Given the description of an element on the screen output the (x, y) to click on. 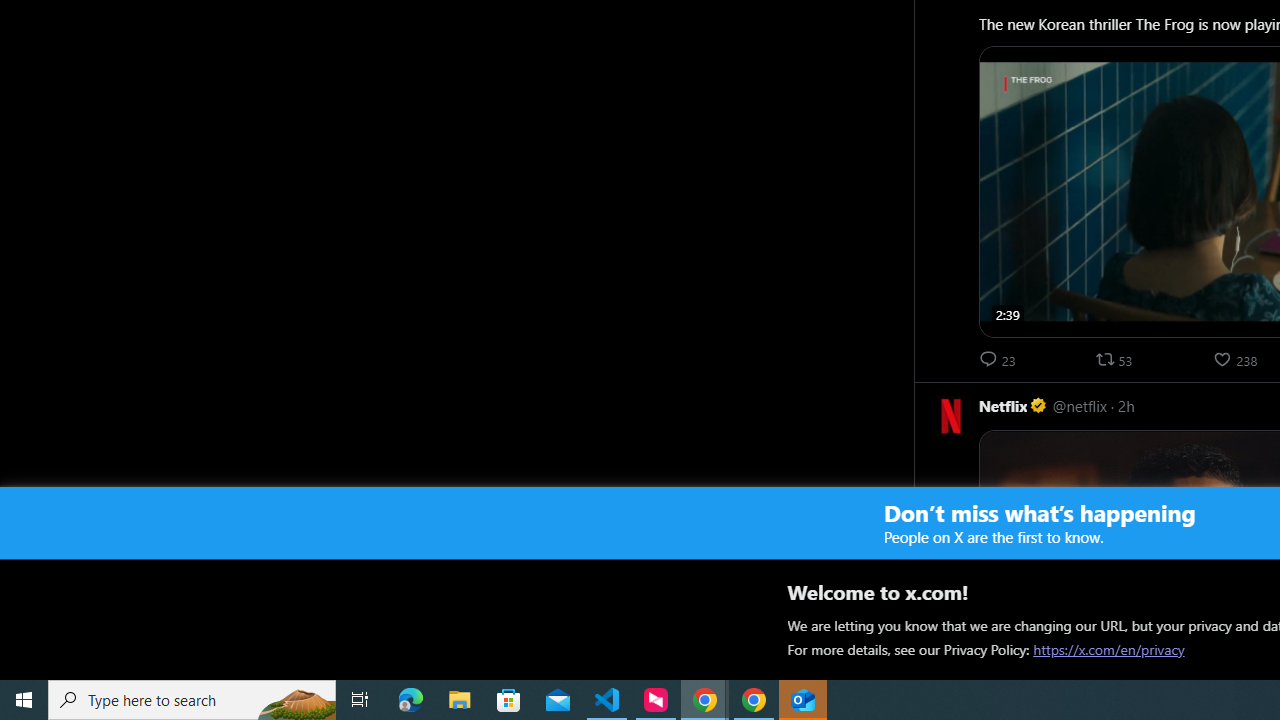
Verified account (1039, 406)
2 hours ago (1126, 405)
Netflix Verified account (1014, 405)
@netflix (1079, 405)
Square profile picture (950, 415)
23 Replies. Reply (999, 359)
https://x.com/en/privacy (1108, 649)
Play Video (1238, 688)
238 Likes. Like (1237, 359)
Square profile picture (950, 415)
53 reposts. Repost (1115, 359)
